Given the description of an element on the screen output the (x, y) to click on. 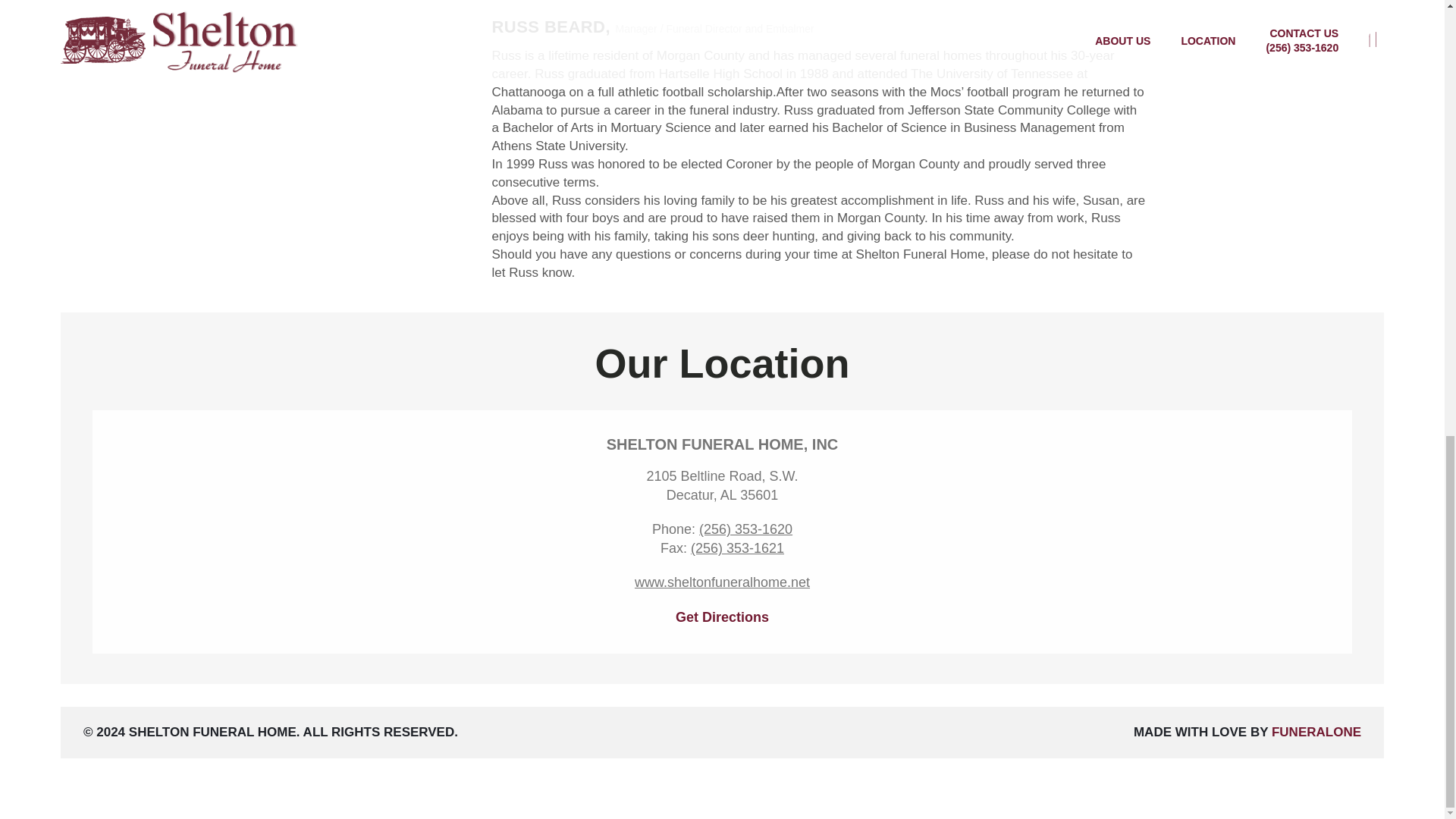
www.sheltonfuneralhome.net (721, 581)
Get Directions (721, 616)
Sitemap (35, 806)
FUNERALONE (1316, 731)
